Given the description of an element on the screen output the (x, y) to click on. 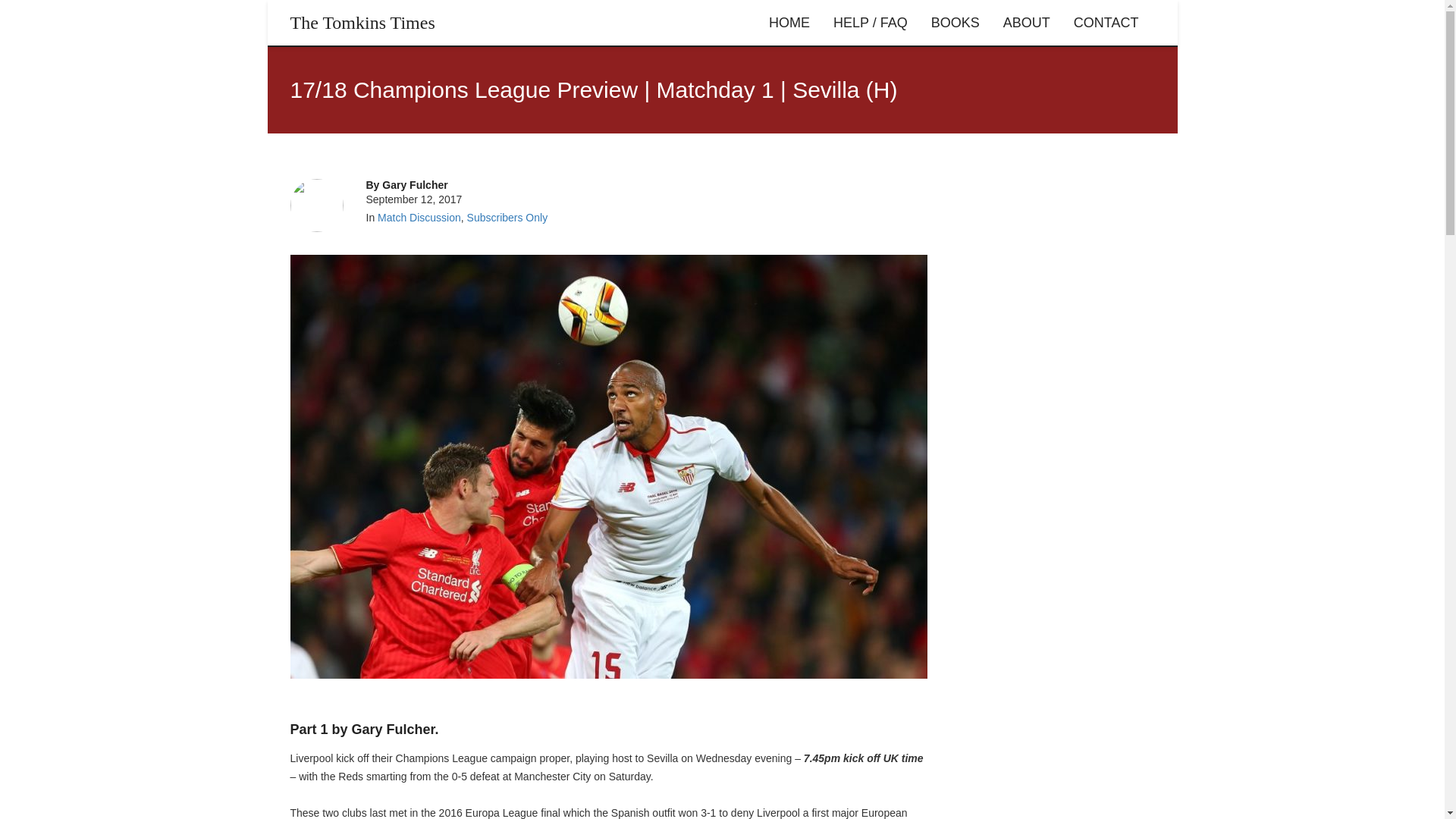
BOOKS (955, 22)
Match Discussion (419, 217)
ABOUT (1026, 22)
Subscribers Only (507, 217)
CONTACT (1106, 22)
Gary Fulcher (413, 184)
HOME (789, 22)
The Tomkins Times (361, 22)
